Given the description of an element on the screen output the (x, y) to click on. 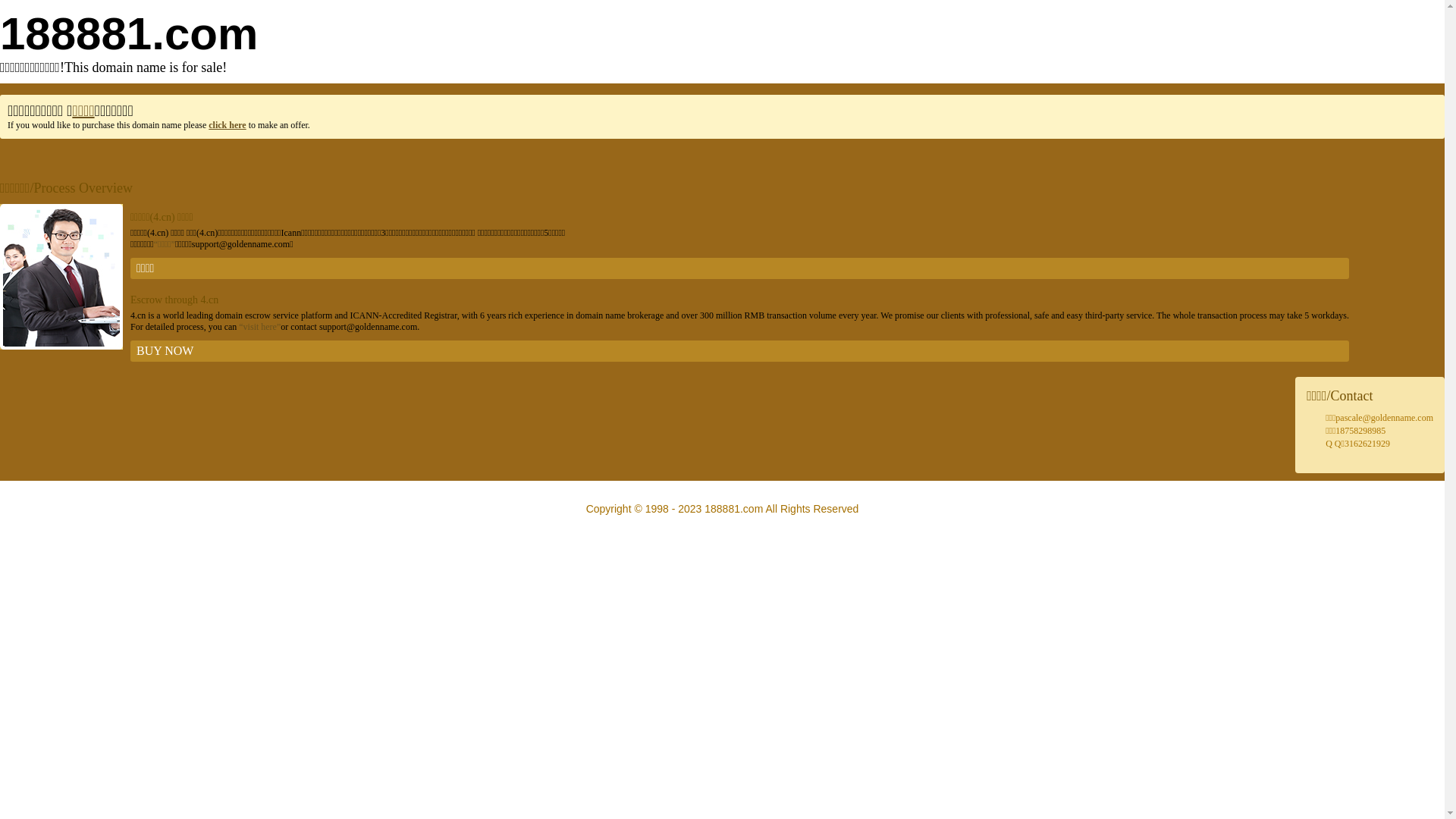
click here Element type: text (226, 124)
BUY NOW Element type: text (739, 350)
